Given the description of an element on the screen output the (x, y) to click on. 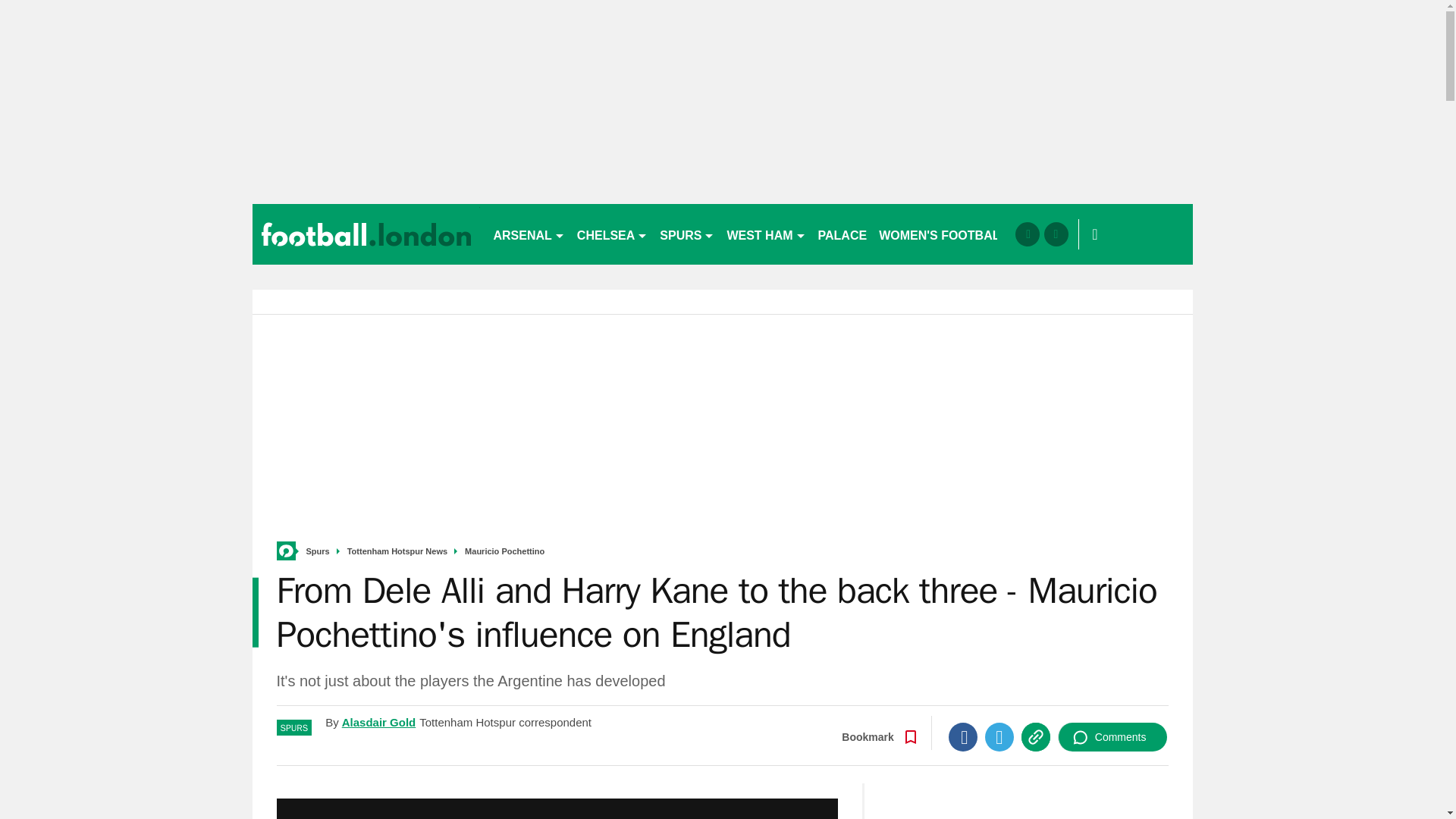
footballlondon (365, 233)
CHELSEA (611, 233)
SPURS (686, 233)
WEST HAM (765, 233)
twitter (1055, 233)
ARSENAL (528, 233)
Comments (1112, 736)
Twitter (999, 736)
WOMEN'S FOOTBALL (942, 233)
facebook (1026, 233)
